Given the description of an element on the screen output the (x, y) to click on. 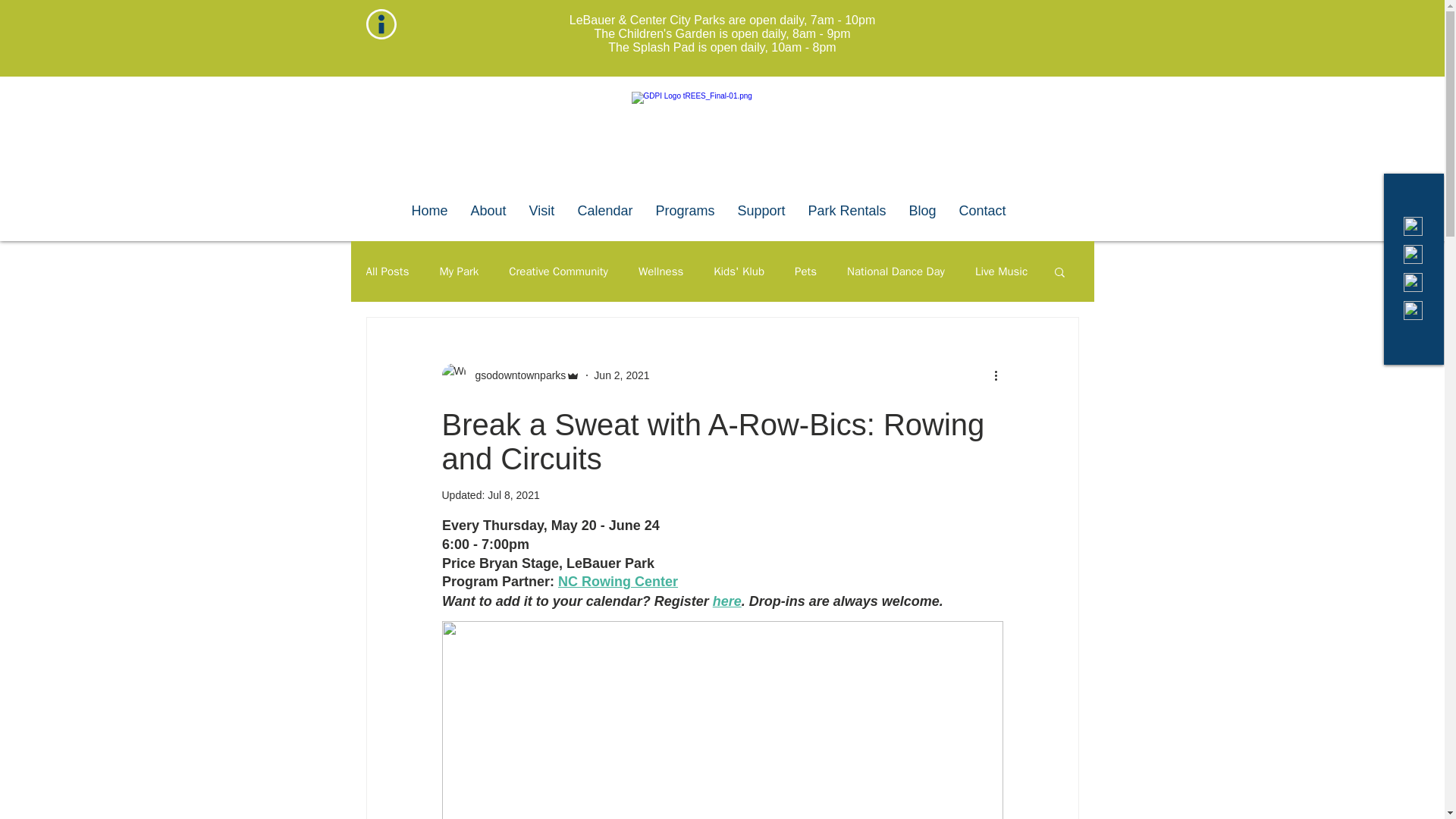
gsodowntownparks (515, 374)
Blog (922, 210)
here (726, 601)
Live Music (1001, 270)
Jun 2, 2021 (621, 374)
My Park (459, 270)
NC Rowing Center (617, 581)
Calendar (604, 210)
Pets (805, 270)
Creative Community (558, 270)
